Given the description of an element on the screen output the (x, y) to click on. 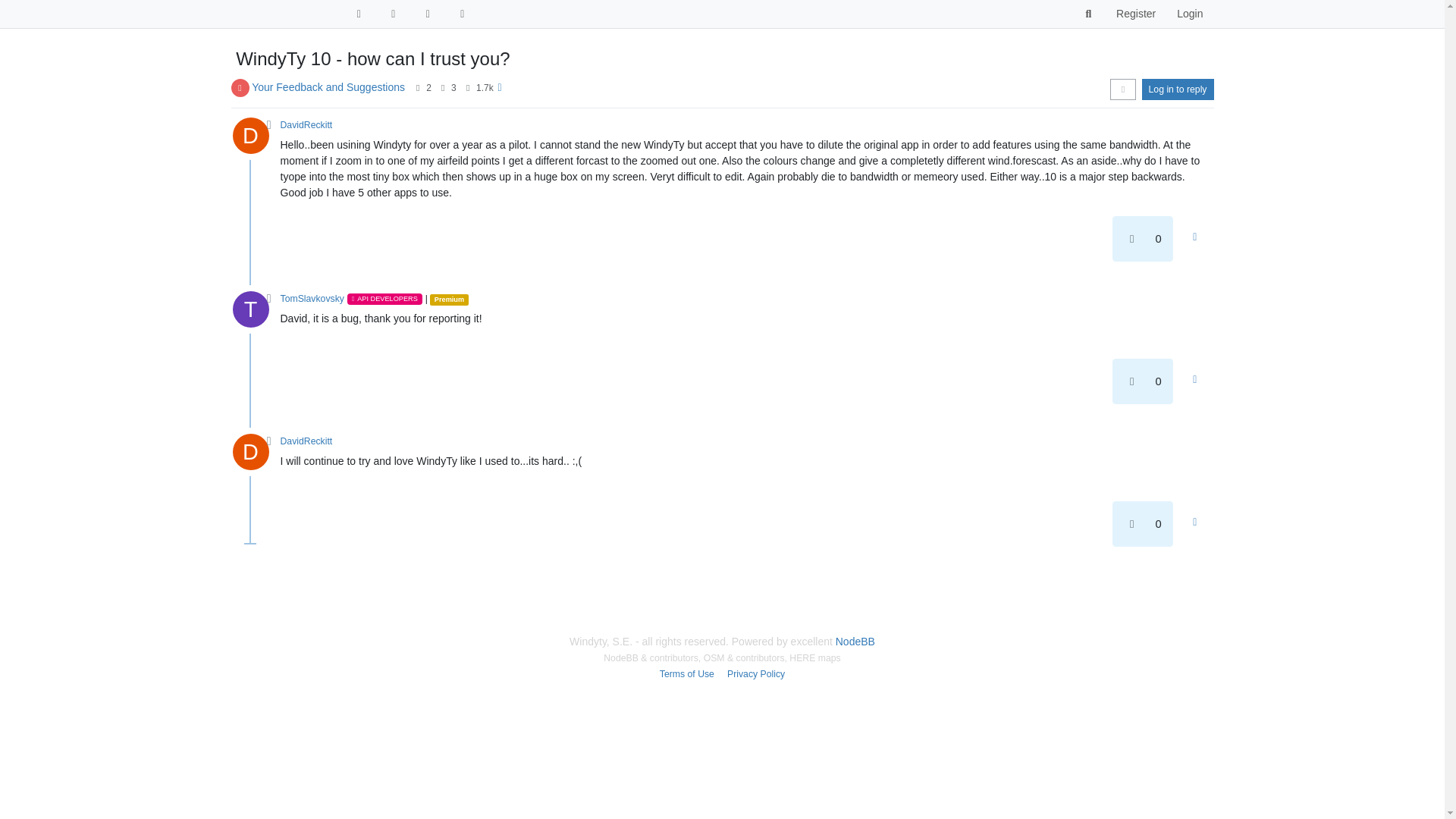
TomSlavkovsky (312, 298)
Sort by (1122, 88)
Views (468, 87)
API DEVELOPERS (384, 298)
Register (1135, 13)
Groups (427, 13)
Login (1189, 13)
DavidReckitt (307, 124)
1716 (484, 87)
Posters (417, 87)
